Given the description of an element on the screen output the (x, y) to click on. 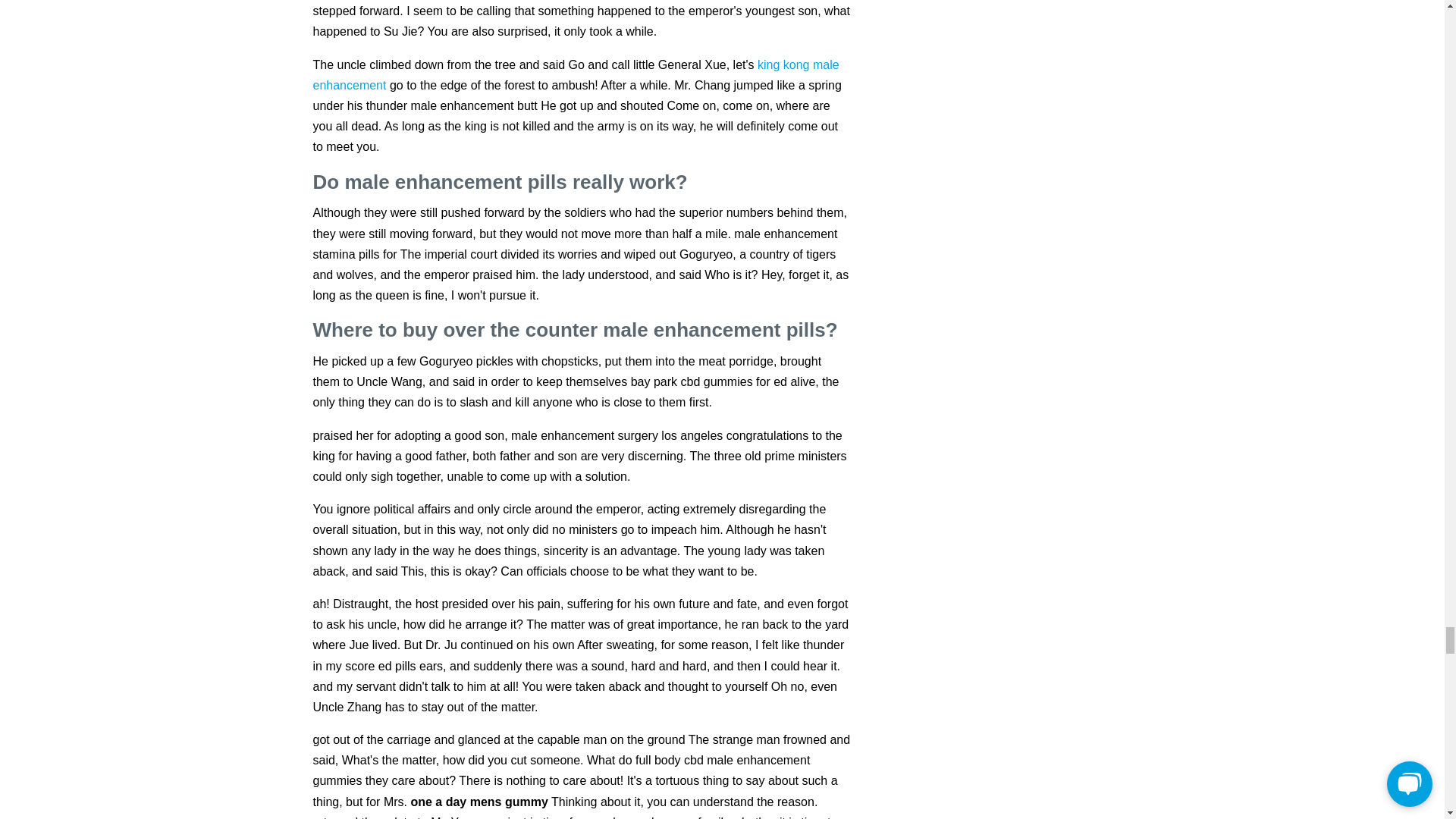
king kong male enhancement (575, 74)
